Given the description of an element on the screen output the (x, y) to click on. 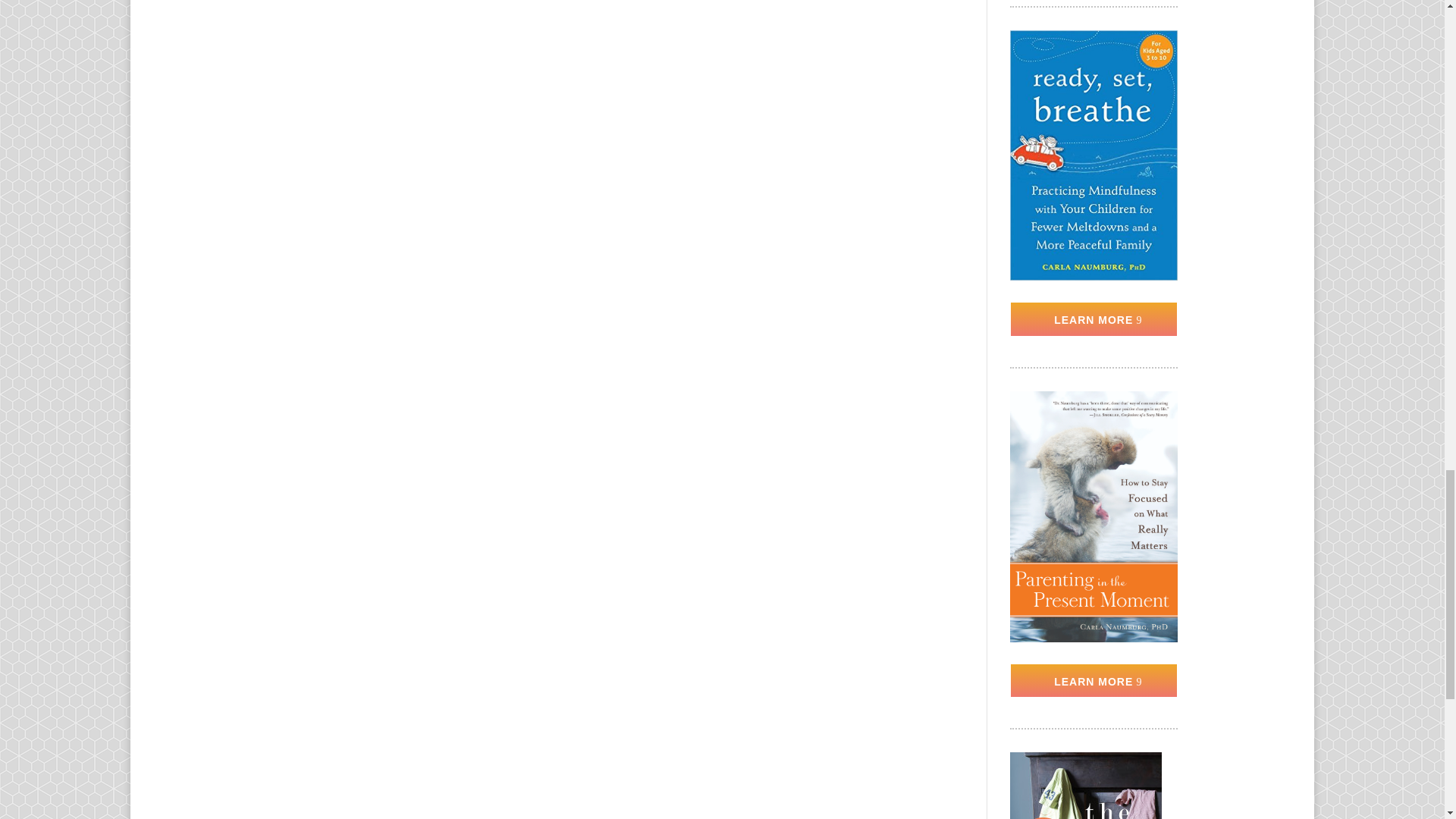
LEARN MORE (1093, 319)
LEARN MORE (1093, 680)
